Given the description of an element on the screen output the (x, y) to click on. 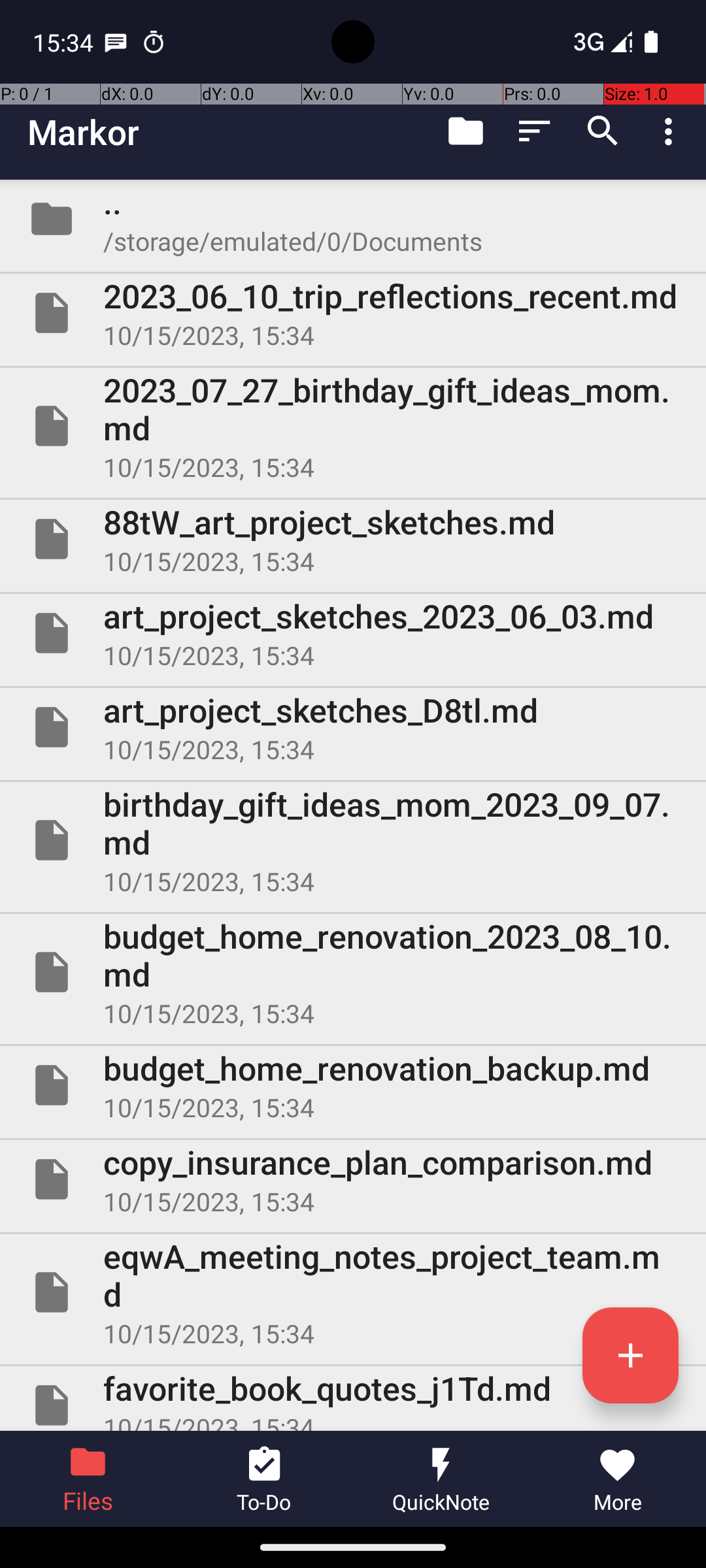
File 2023_06_10_trip_reflections_recent.md  Element type: android.widget.LinearLayout (353, 312)
File 2023_07_27_birthday_gift_ideas_mom.md  Element type: android.widget.LinearLayout (353, 425)
File 88tW_art_project_sketches.md  Element type: android.widget.LinearLayout (353, 538)
File art_project_sketches_2023_06_03.md  Element type: android.widget.LinearLayout (353, 632)
File art_project_sketches_D8tl.md  Element type: android.widget.LinearLayout (353, 726)
File birthday_gift_ideas_mom_2023_09_07.md  Element type: android.widget.LinearLayout (353, 840)
File budget_home_renovation_2023_08_10.md  Element type: android.widget.LinearLayout (353, 972)
File budget_home_renovation_backup.md  Element type: android.widget.LinearLayout (353, 1084)
File copy_insurance_plan_comparison.md  Element type: android.widget.LinearLayout (353, 1179)
File eqwA_meeting_notes_project_team.md  Element type: android.widget.LinearLayout (353, 1292)
File favorite_book_quotes_j1Td.md  Element type: android.widget.LinearLayout (353, 1398)
